Given the description of an element on the screen output the (x, y) to click on. 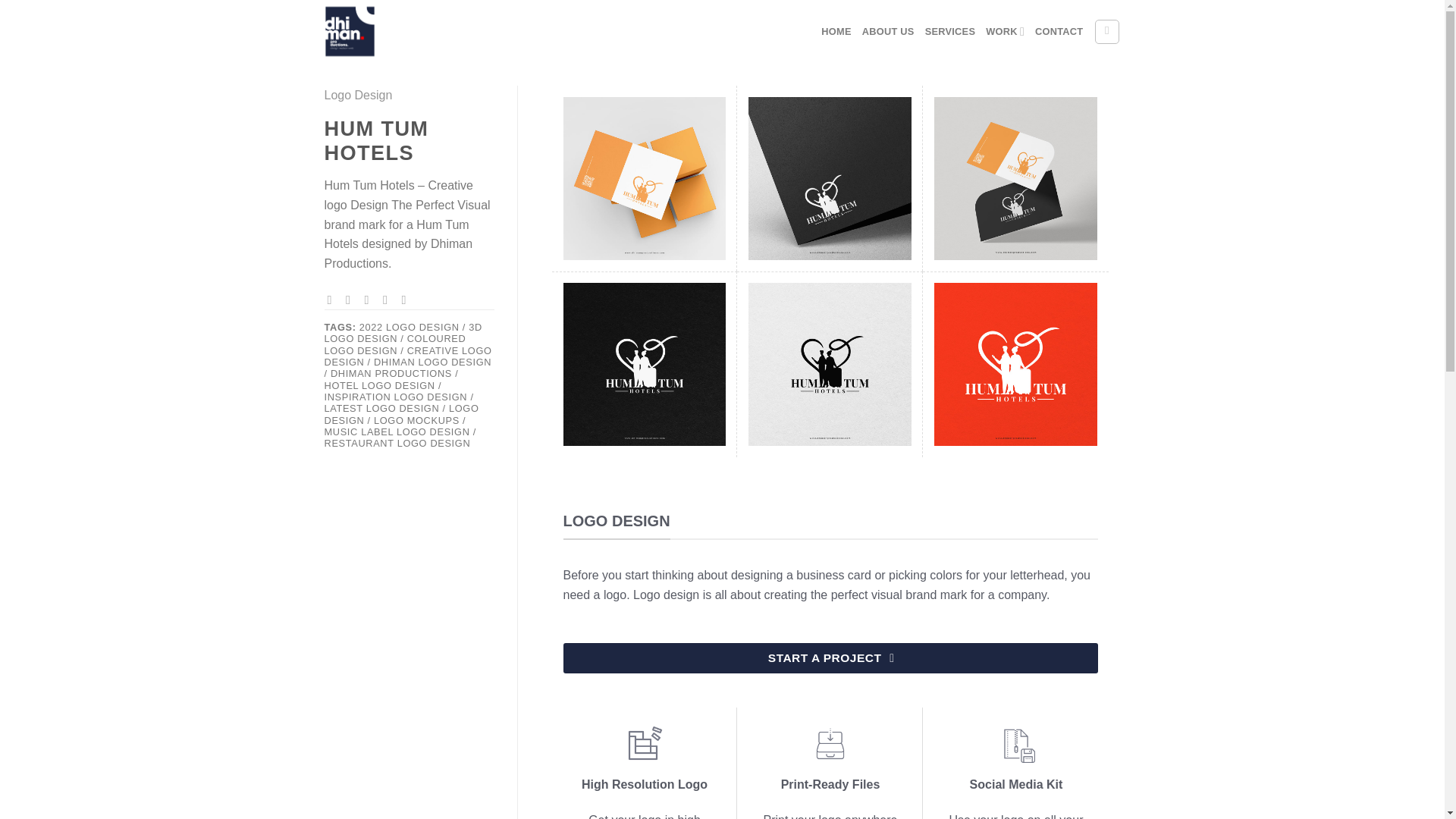
Share on Facebook (333, 299)
CONTACT (1059, 31)
Pin on Pinterest (388, 299)
WORK (1005, 30)
Share on Twitter (352, 299)
Share on LinkedIn (407, 299)
Logo Design (358, 94)
HOME (835, 31)
ABOUT US (887, 31)
